Given the description of an element on the screen output the (x, y) to click on. 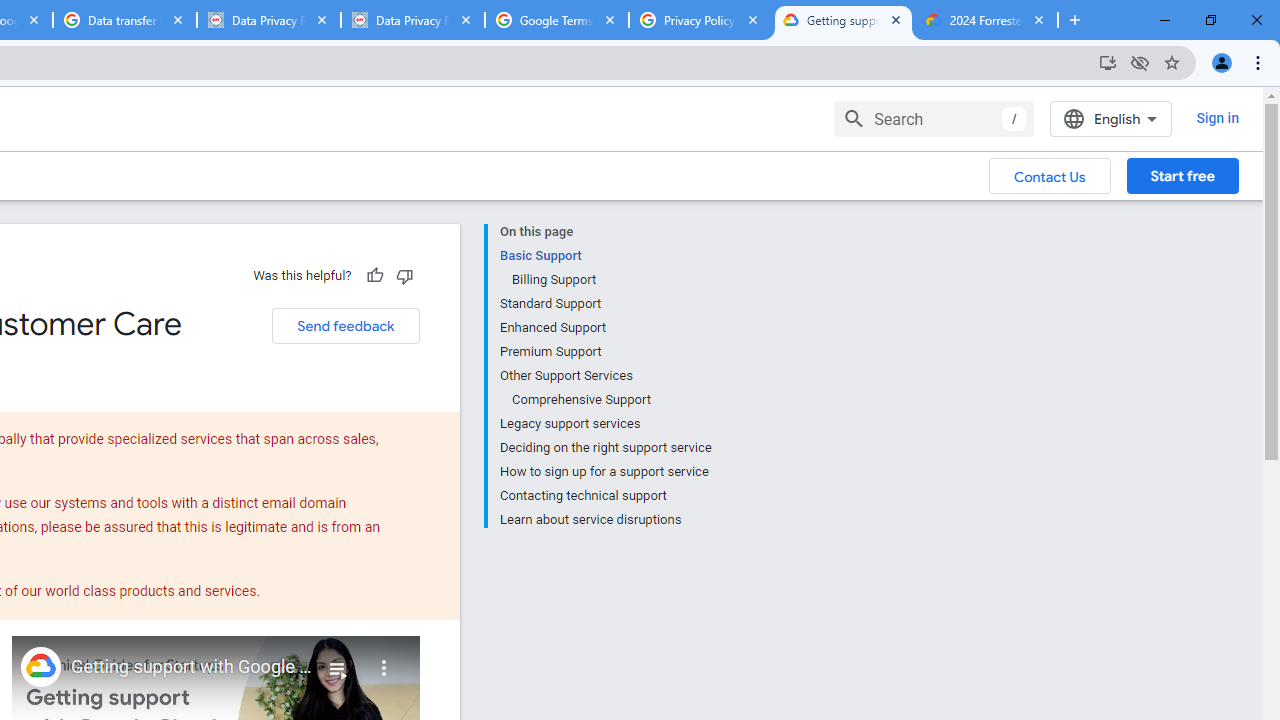
Helpful (374, 275)
Not helpful (404, 275)
English (1110, 118)
Sign in (1216, 118)
Deciding on the right support service (605, 448)
Other Support Services (605, 376)
Search (934, 118)
Learn about service disruptions (605, 517)
Start free (1182, 175)
Premium Support (605, 351)
Data Privacy Framework (412, 20)
Getting support with Google Cloud Customer Care (191, 667)
Photo image of Google Cloud Tech (40, 665)
